Given the description of an element on the screen output the (x, y) to click on. 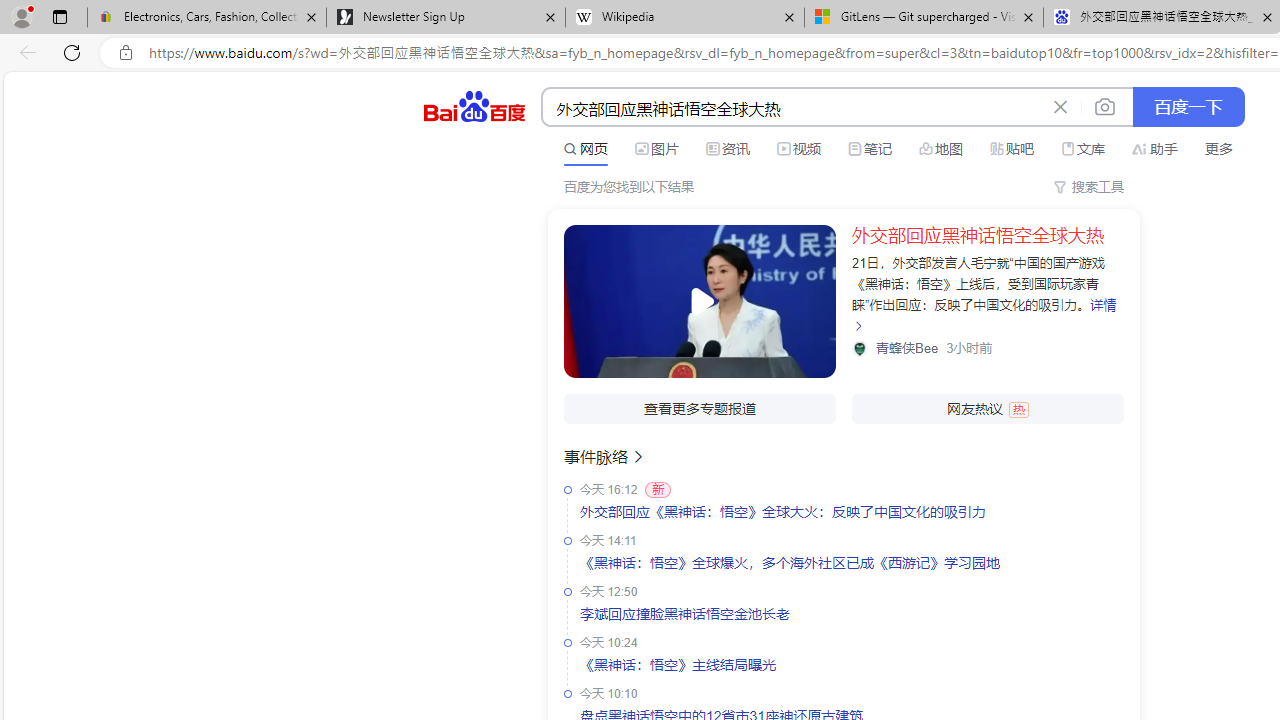
Newsletter Sign Up (445, 17)
